Given the description of an element on the screen output the (x, y) to click on. 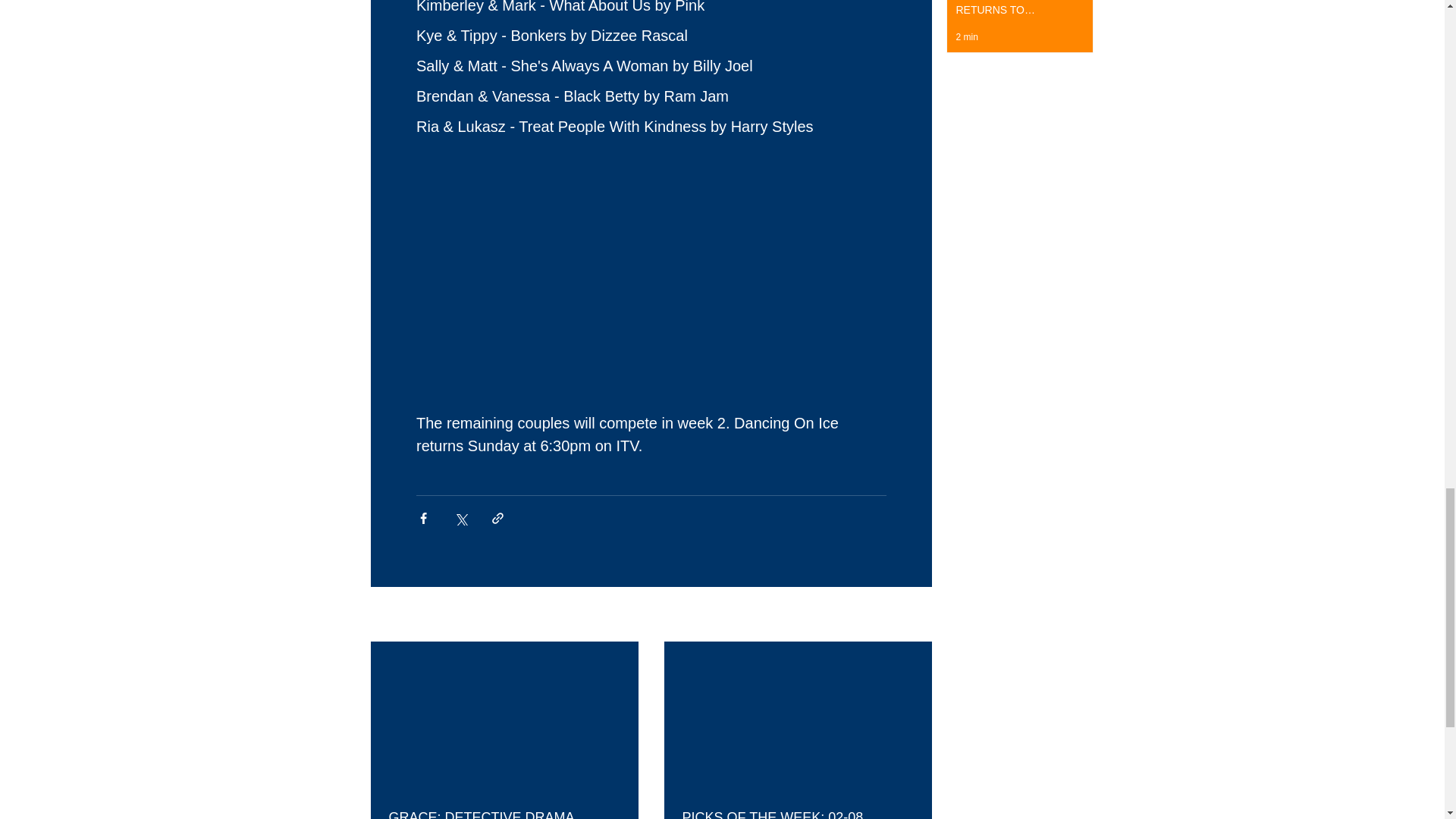
PICKS OF THE WEEK: 02-08 SEPTEMBER 2024 (798, 814)
GRACE: DETECTIVE DRAMA RENEWED FOR FIFTH SERIES ON ITV (504, 814)
See All (914, 615)
2 min (965, 36)
